Given the description of an element on the screen output the (x, y) to click on. 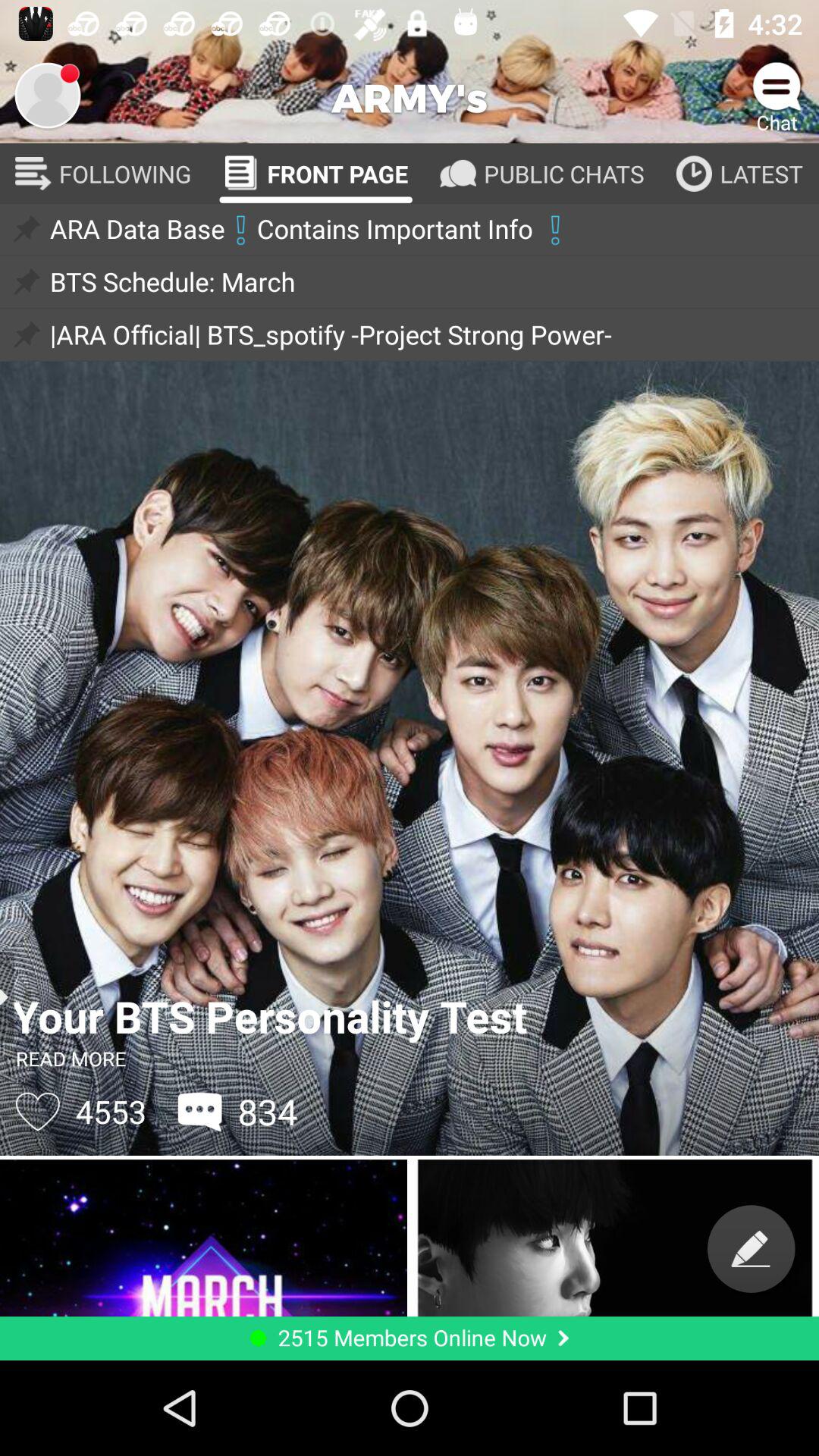
switch to edit (751, 1248)
